Given the description of an element on the screen output the (x, y) to click on. 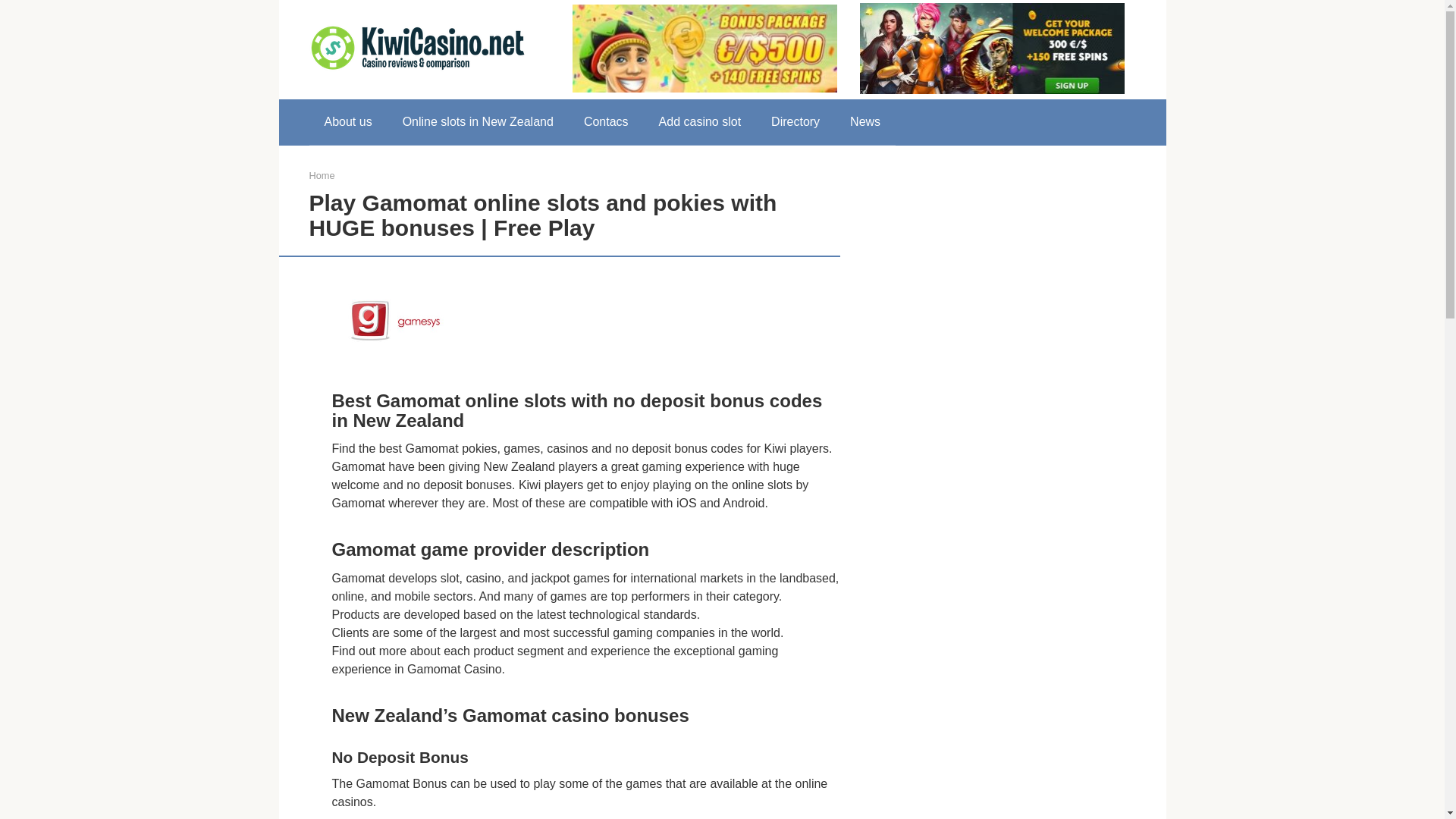
Gamesys-1 (395, 321)
About us (347, 121)
Online slots in New Zealand (478, 121)
Contacs (606, 121)
Home (321, 174)
Add casino slot (700, 121)
News (864, 121)
Directory (794, 121)
